Given the description of an element on the screen output the (x, y) to click on. 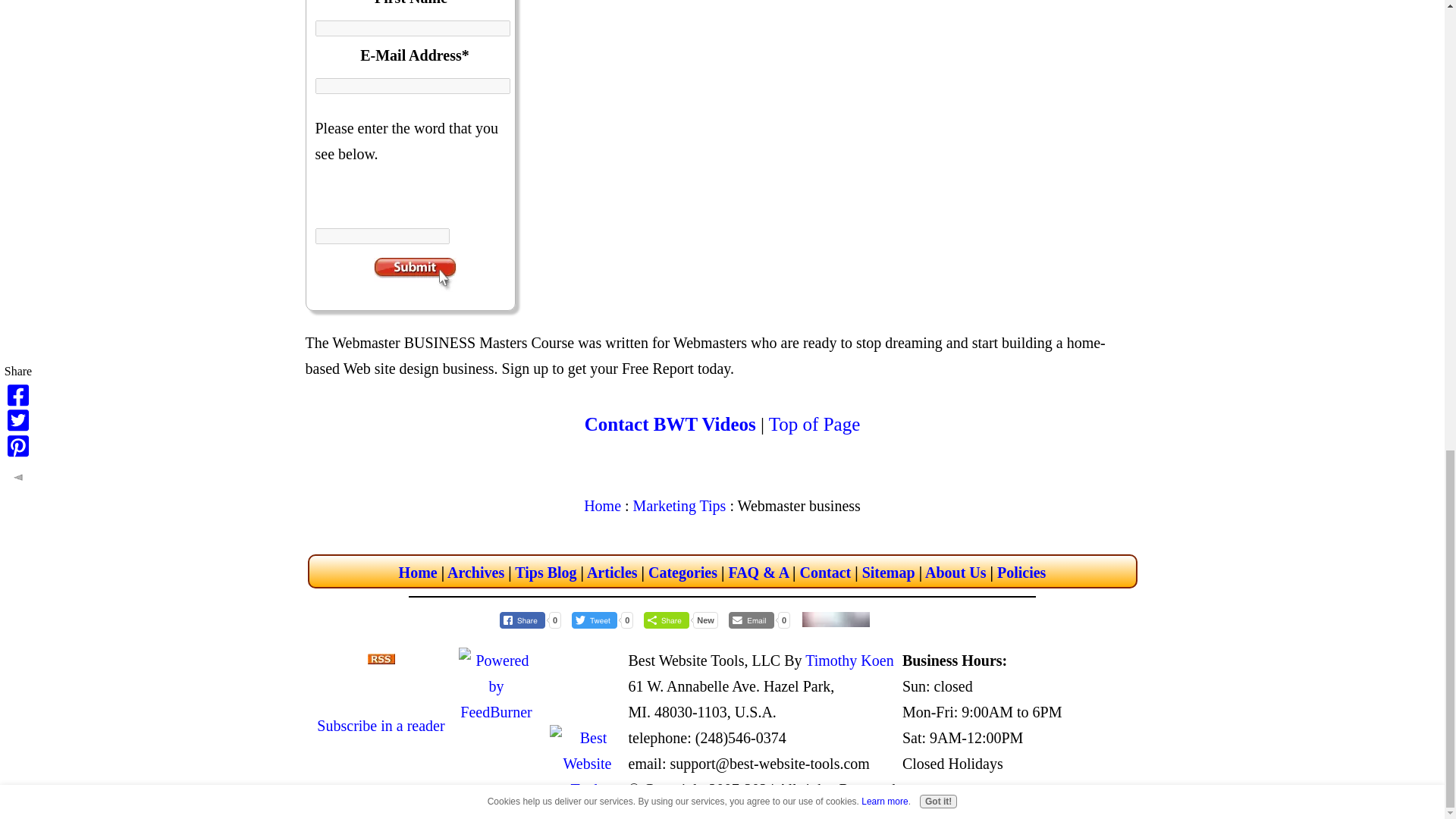
privacy policy (1021, 572)
Follow me on Blogorama (495, 763)
BWT YouTube Channel (835, 619)
Are you LinkedIn? - Join the network (586, 699)
Subscribe (413, 274)
View my FaceBook business page (586, 711)
Contact BWT Videos (670, 424)
Review BWT on GMB (911, 619)
Review This Website (912, 617)
Best Website Tips (496, 789)
